Given the description of an element on the screen output the (x, y) to click on. 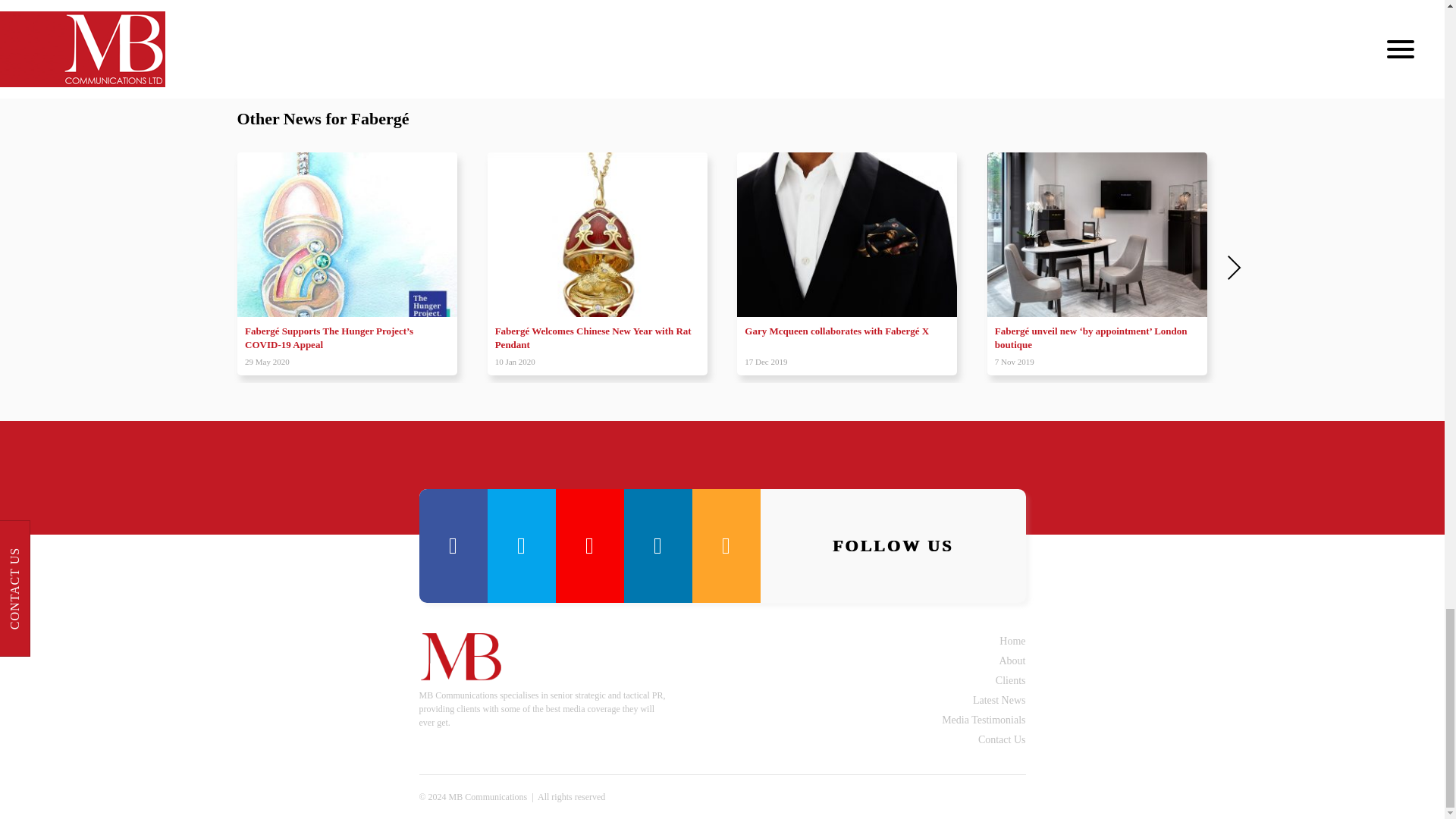
jewellery (435, 22)
faberge (386, 22)
dalliance gemaddict (315, 22)
timepiece (488, 22)
